Given the description of an element on the screen output the (x, y) to click on. 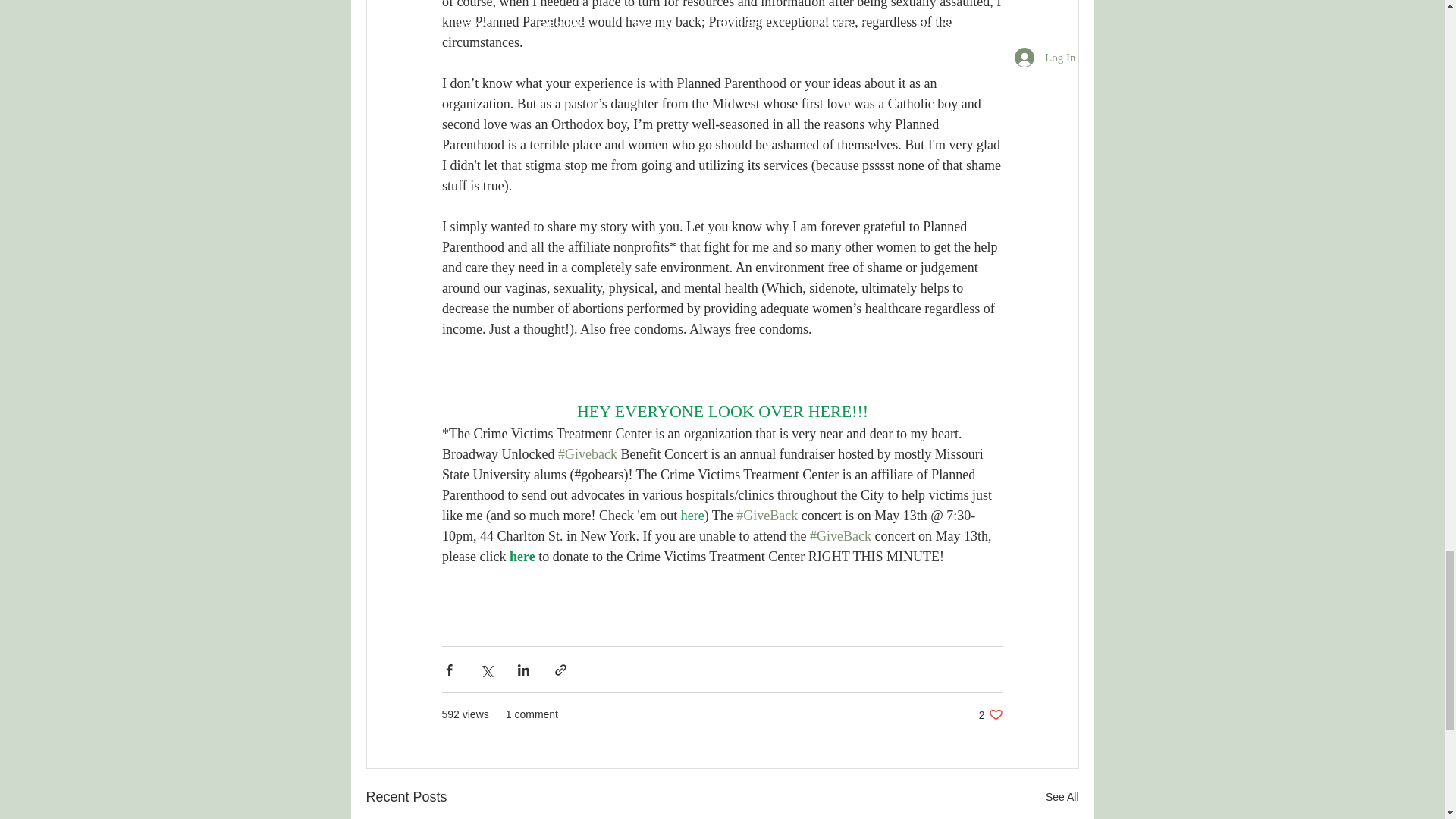
here (990, 714)
See All (691, 515)
Just a thought! (1061, 797)
here (528, 328)
